Given the description of an element on the screen output the (x, y) to click on. 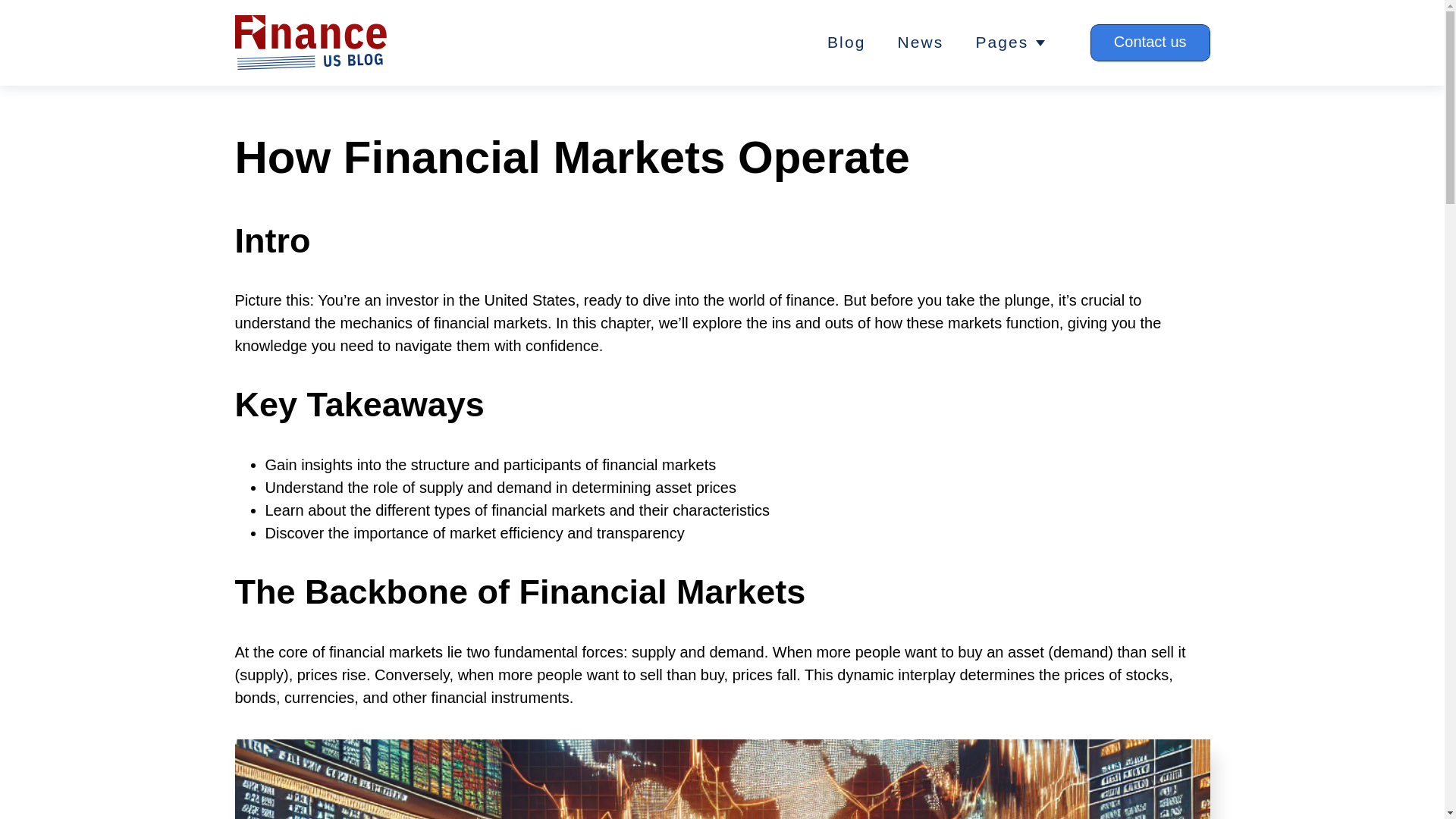
News (919, 42)
News (919, 42)
